Given the description of an element on the screen output the (x, y) to click on. 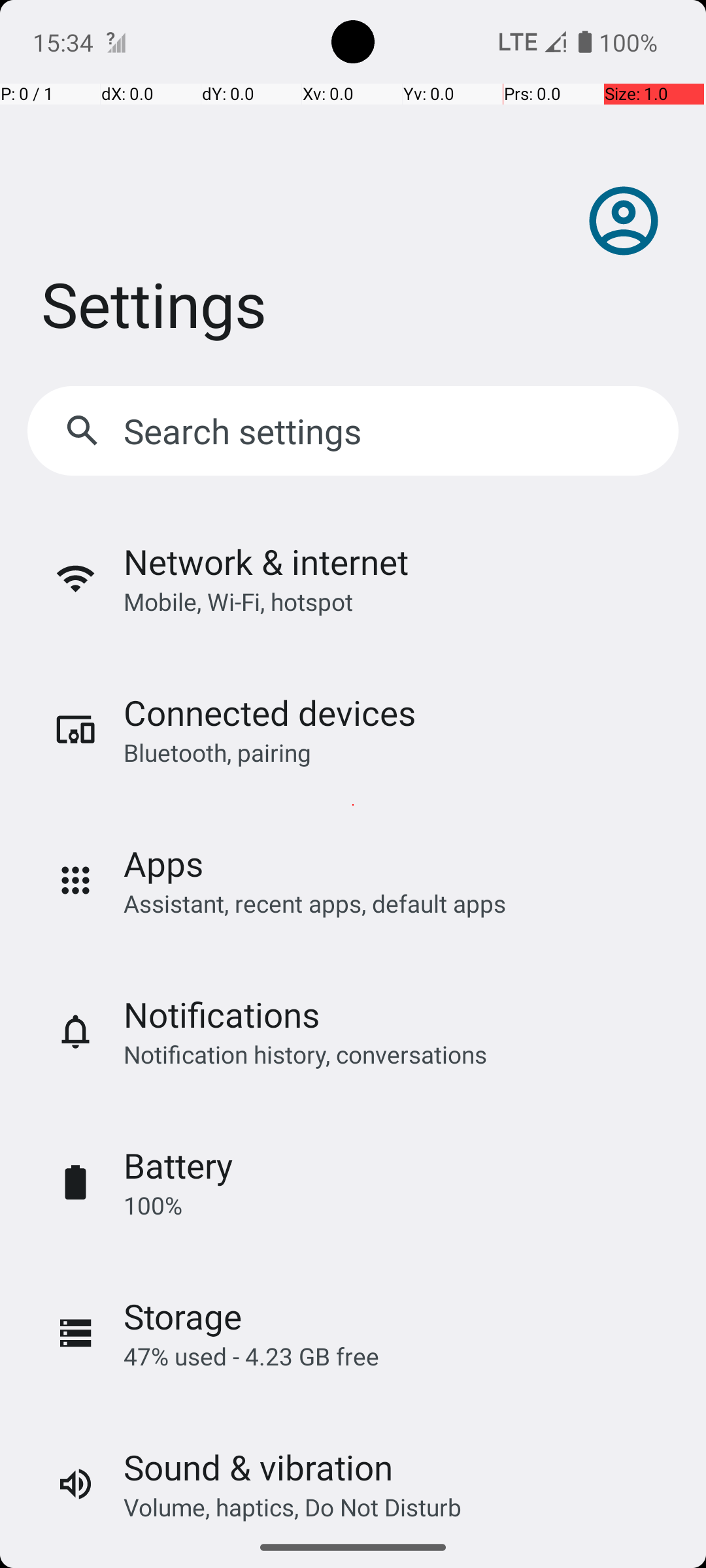
47% used - 4.23 GB free Element type: android.widget.TextView (251, 1355)
